Given the description of an element on the screen output the (x, y) to click on. 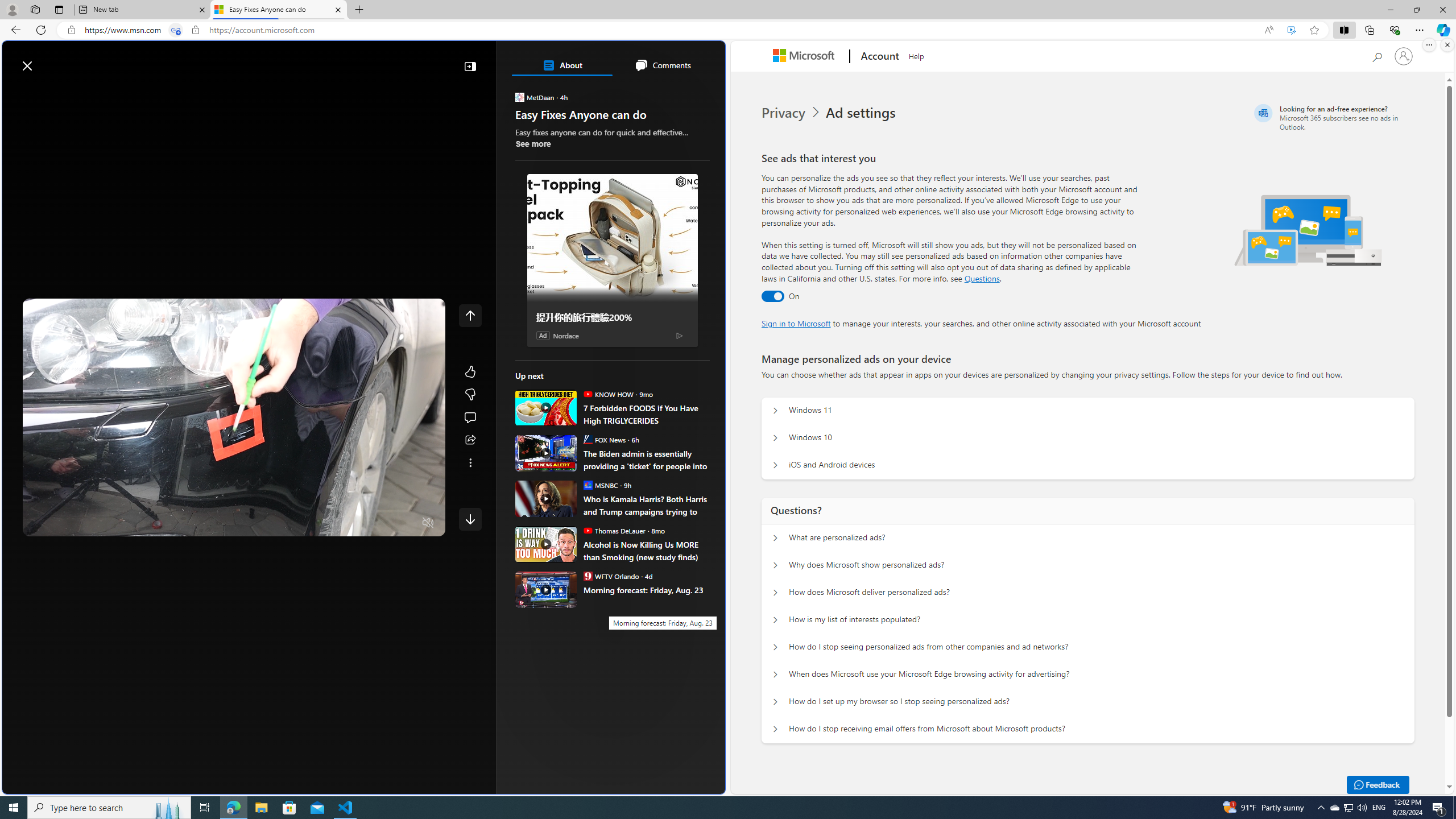
Questions? What are personalized ads? (775, 537)
MSNBC (587, 484)
Account (878, 56)
Sign in to Microsoft (796, 323)
Morning forecast: Friday, Aug. 23 (545, 588)
